Given the description of an element on the screen output the (x, y) to click on. 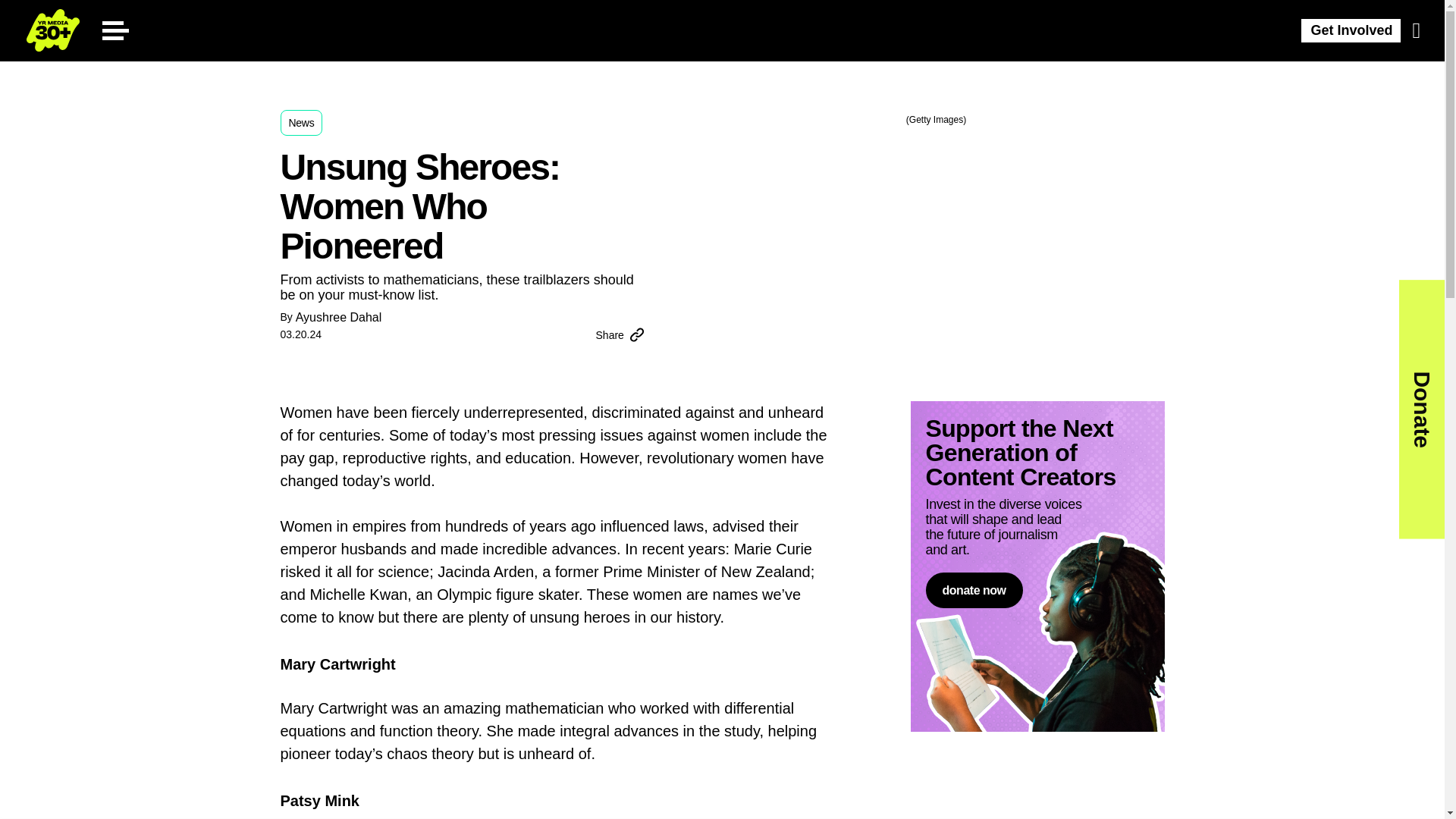
Ayushree Dahal (338, 317)
News (302, 122)
donate now (973, 590)
Get Involved (1350, 30)
